Given the description of an element on the screen output the (x, y) to click on. 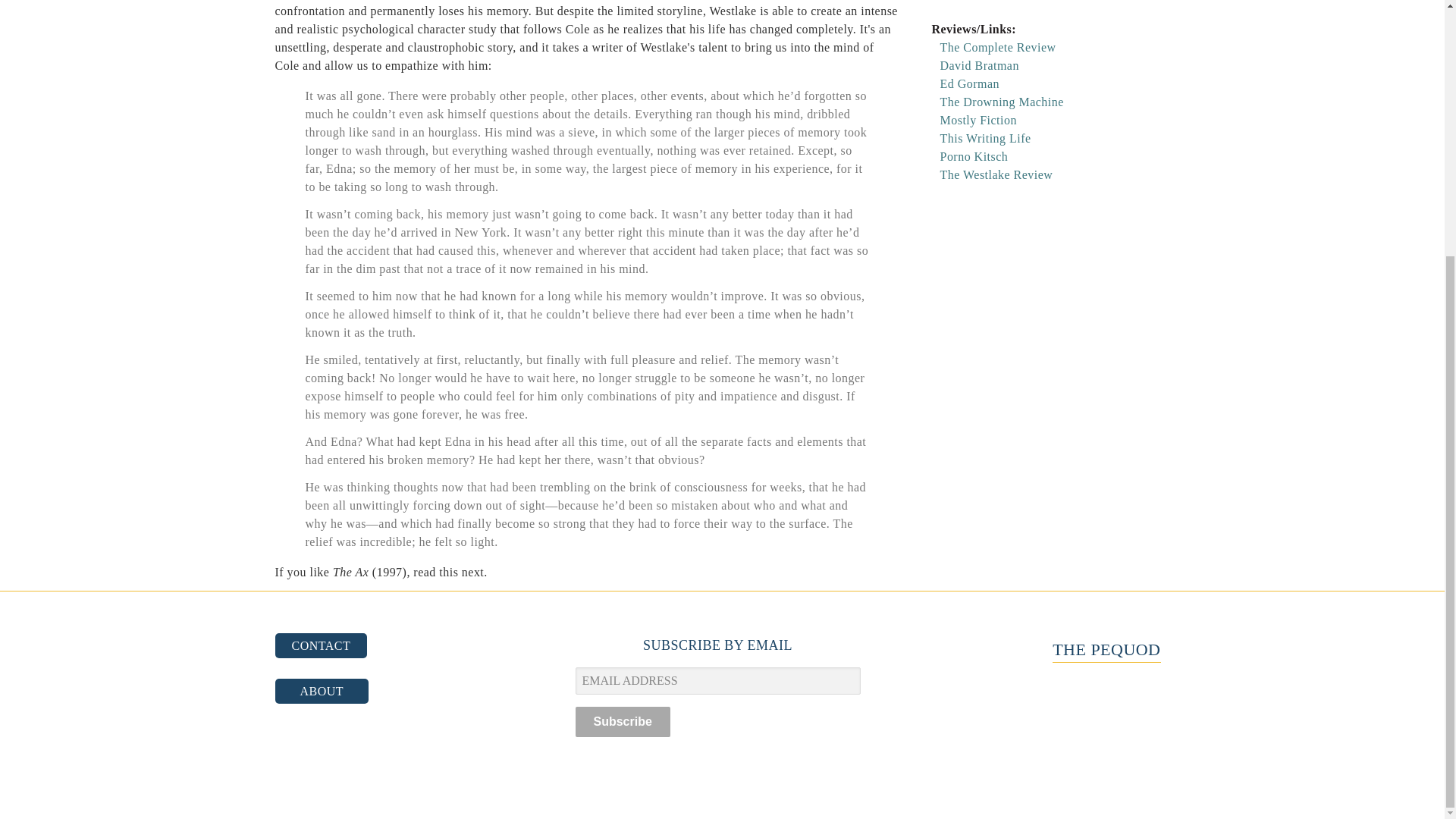
CONTACT (320, 645)
The Westlake Review (996, 174)
The Complete Review (998, 47)
ABOUT (321, 690)
Subscribe (622, 721)
Subscribe (622, 721)
Mostly Fiction (978, 119)
Ed Gorman (970, 83)
Porno Kitsch (974, 155)
The Drowning Machine (1002, 101)
